Given the description of an element on the screen output the (x, y) to click on. 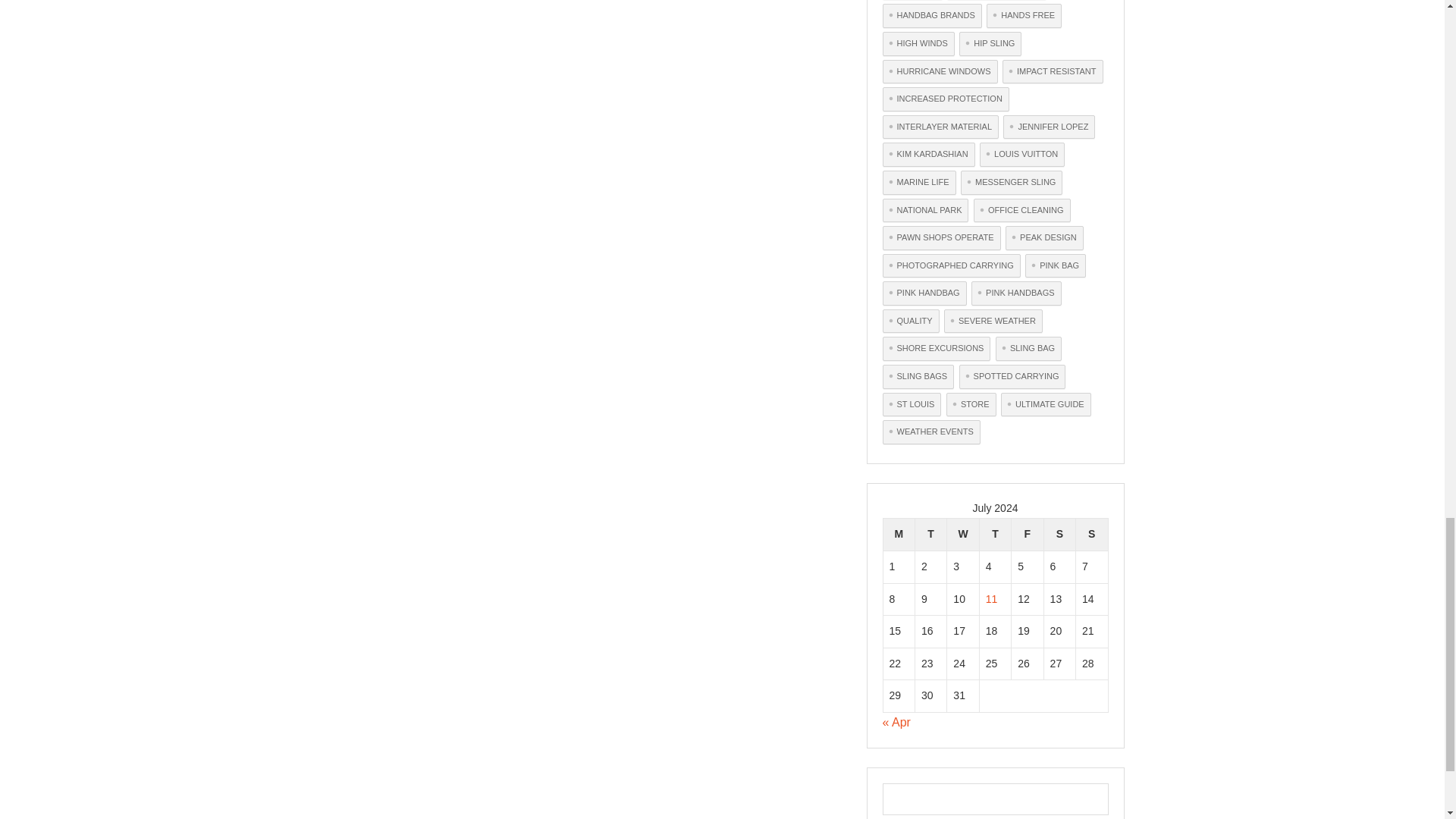
Tuesday (930, 534)
Monday (898, 534)
Thursday (994, 534)
Wednesday (962, 534)
Saturday (1059, 534)
Friday (1027, 534)
Sunday (1091, 534)
